Given the description of an element on the screen output the (x, y) to click on. 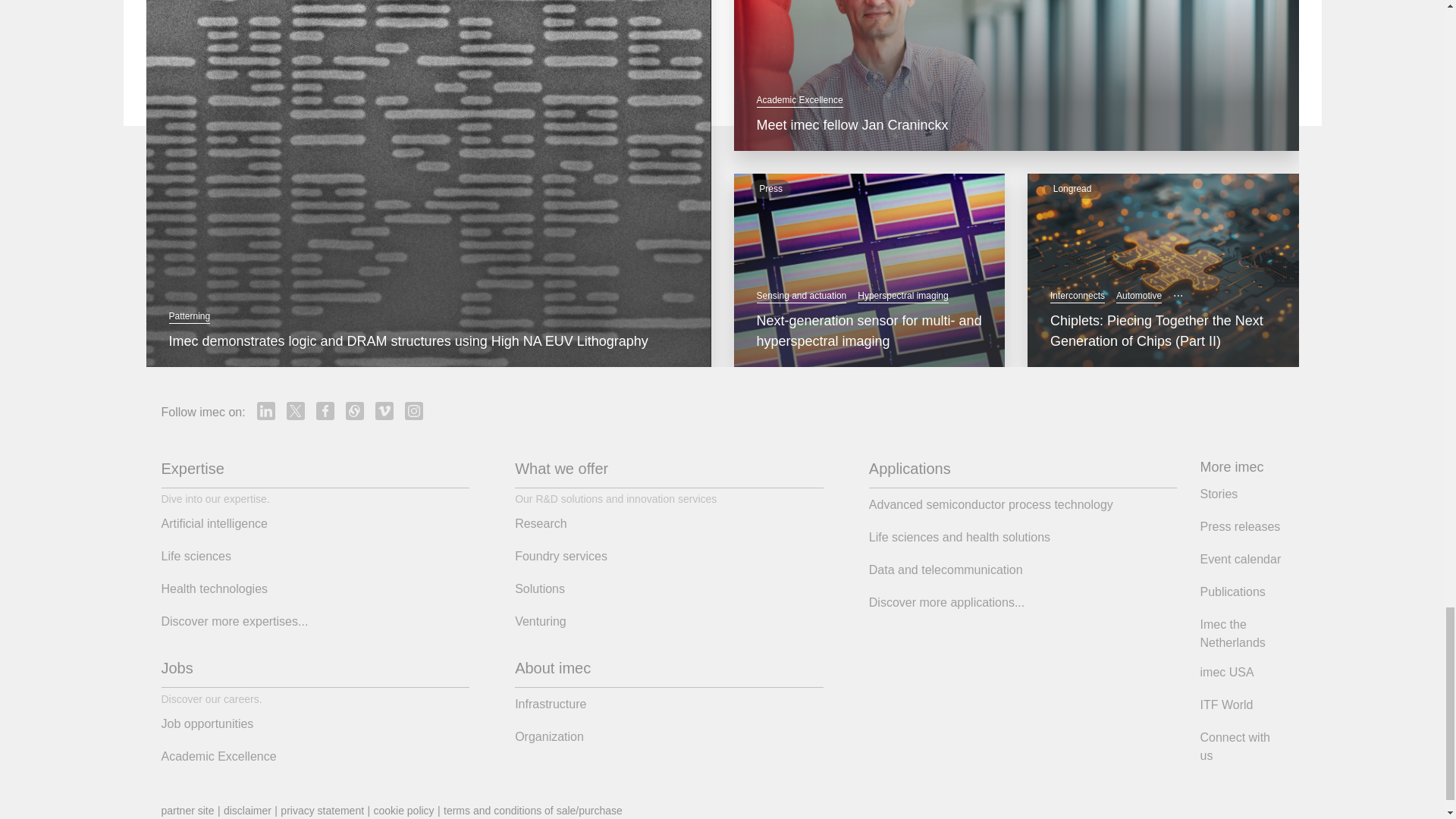
LinkedIn (266, 411)
Hyperspectral imaging (902, 296)
Automotive (1138, 296)
X (295, 411)
Instagram (413, 411)
Meet imec fellow Jan Craninckx (1016, 125)
Vimeo (384, 411)
Next-generation sensor for multi- and hyperspectral imaging (869, 331)
Facebook (324, 411)
